Given the description of an element on the screen output the (x, y) to click on. 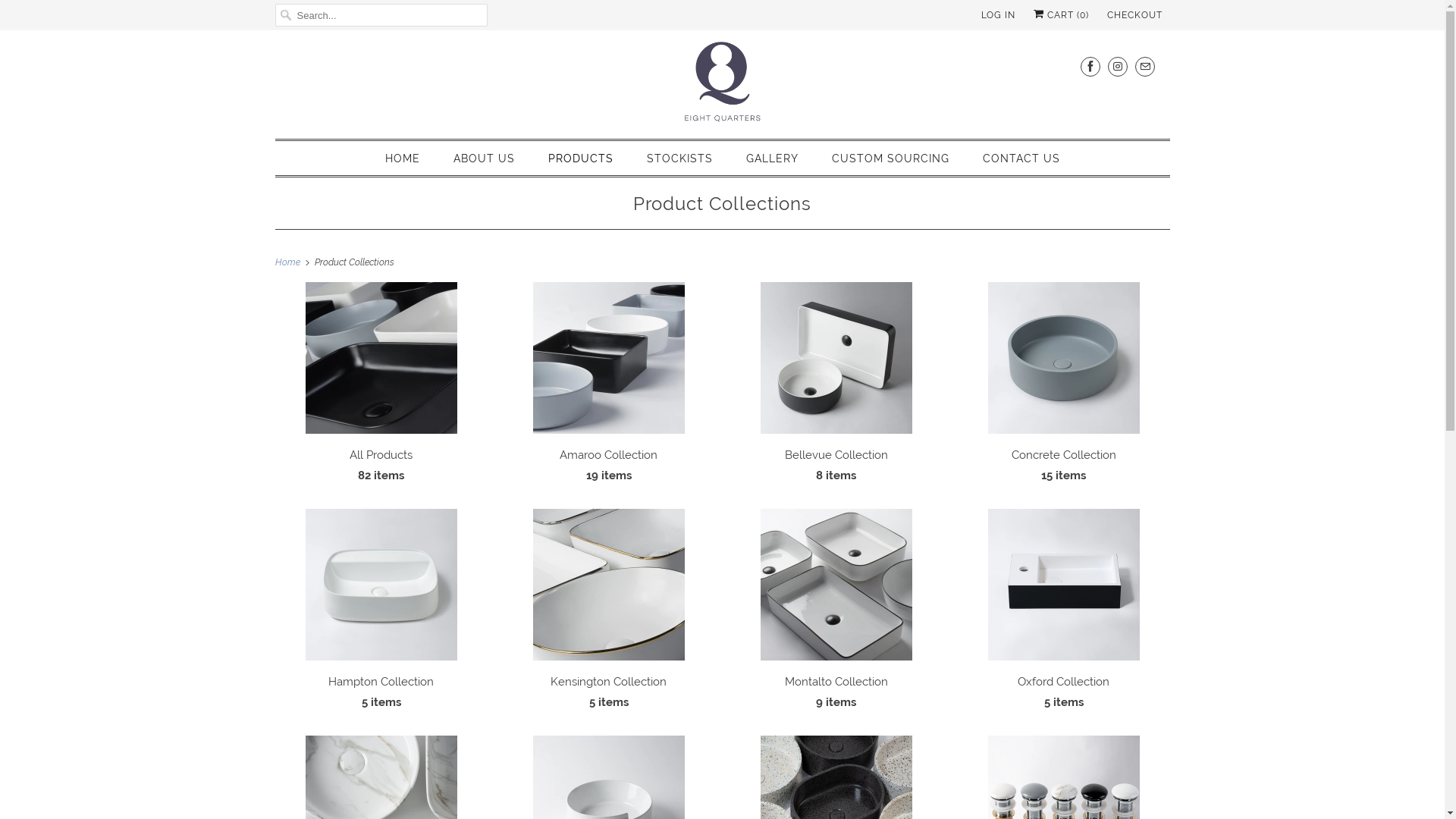
CART (0) Element type: text (1060, 14)
ABOUT US Element type: text (483, 158)
Amaroo Collection
19 items Element type: text (608, 387)
Eight Quarters Element type: hover (721, 82)
Hampton Collection
5 items Element type: text (380, 613)
Kensington Collection
5 items Element type: text (608, 613)
STOCKISTS Element type: text (679, 158)
Oxford Collection
5 items Element type: text (1063, 613)
HOME Element type: text (402, 158)
GALLERY Element type: text (772, 158)
CHECKOUT Element type: text (1134, 14)
PRODUCTS Element type: text (579, 158)
Concrete Collection
15 items Element type: text (1063, 387)
LOG IN Element type: text (998, 14)
Montalto Collection
9 items Element type: text (835, 613)
Eight Quarters on Facebook Element type: hover (1089, 66)
Bellevue Collection
8 items Element type: text (835, 387)
CONTACT US Element type: text (1021, 158)
Home Element type: text (289, 262)
Email Eight Quarters Element type: hover (1144, 66)
Eight Quarters on Instagram Element type: hover (1116, 66)
All Products
82 items Element type: text (380, 387)
CUSTOM SOURCING Element type: text (889, 158)
